Given the description of an element on the screen output the (x, y) to click on. 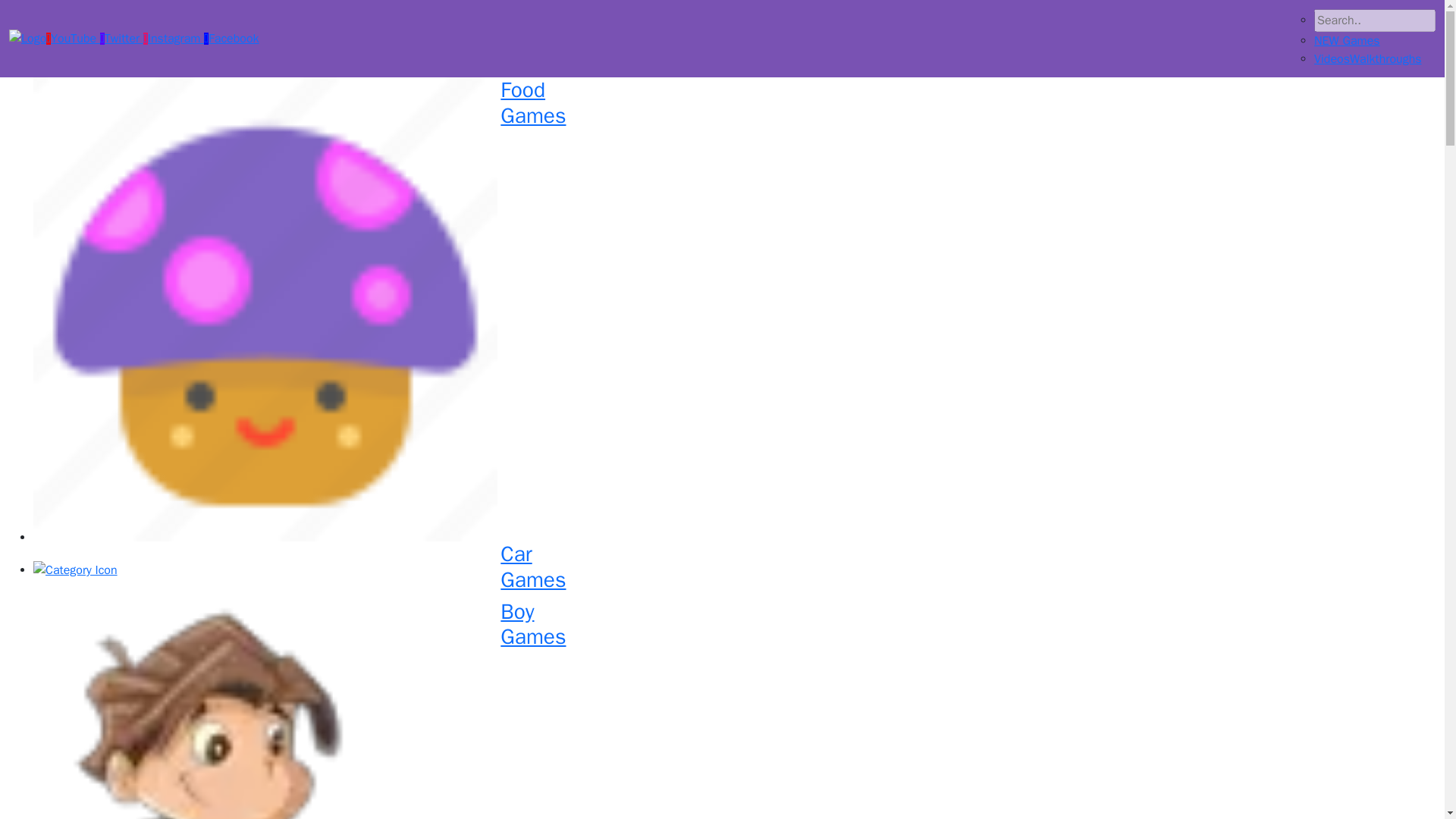
VideosWalkthroughs (1368, 58)
NEW Games (1347, 40)
Car Games  (1347, 40)
YouTube (734, 569)
YouTube (73, 38)
Food Games  (73, 38)
